Given the description of an element on the screen output the (x, y) to click on. 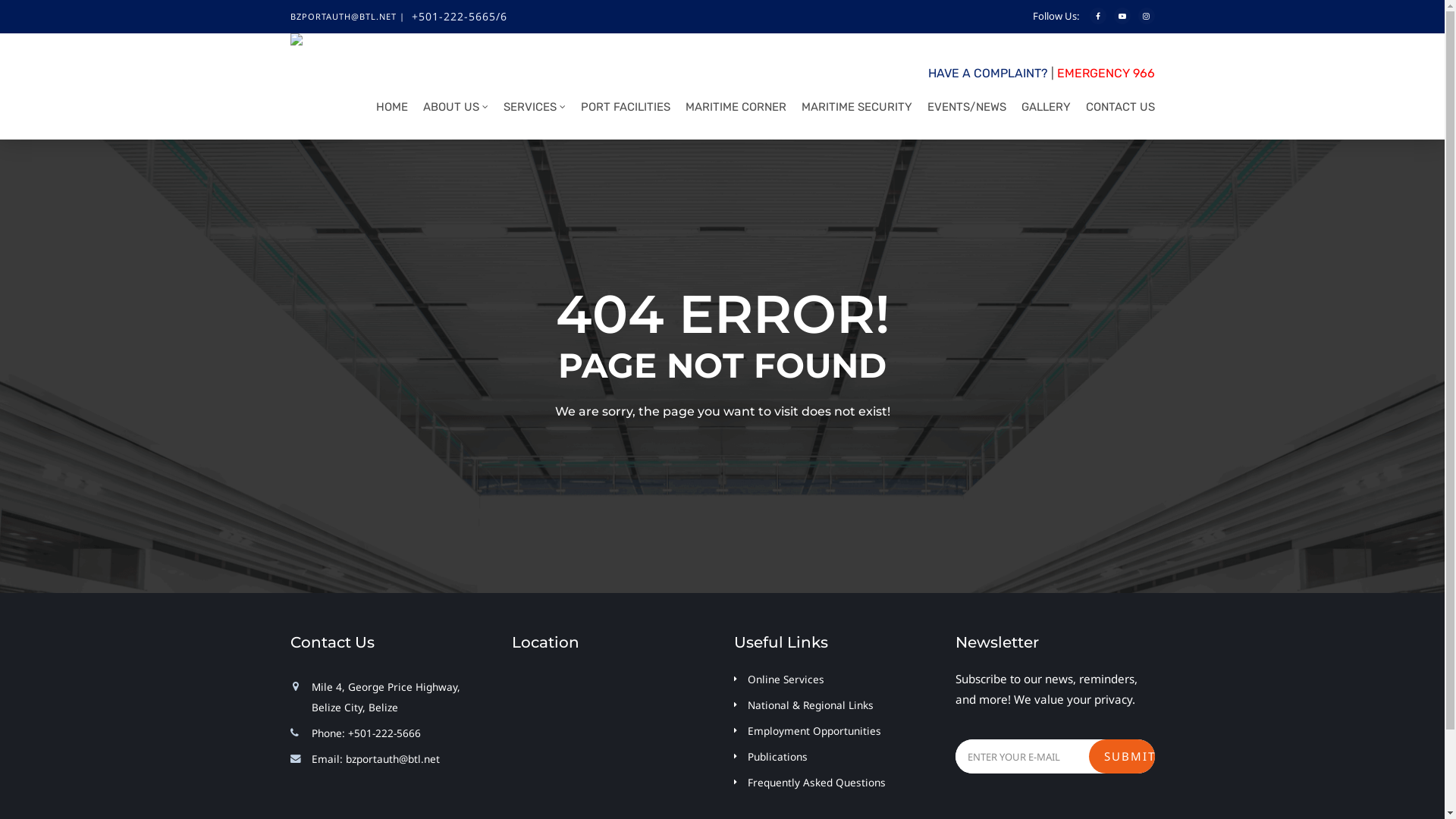
National & Regional Links Element type: text (810, 704)
HOME Element type: text (387, 110)
GALLERY Element type: text (1041, 110)
+501-222-5665/6 Element type: text (458, 16)
EVENTS/NEWS Element type: text (962, 110)
SERVICES Element type: text (529, 110)
HAVE A COMPLAINT? Element type: text (988, 72)
MARITIME CORNER Element type: text (730, 110)
ABOUT US Element type: text (450, 110)
Publications Element type: text (777, 756)
Online Services Element type: text (785, 678)
Frequently Asked Questions Element type: text (816, 782)
SUBMIT Element type: text (1121, 756)
Employment Opportunities Element type: text (814, 730)
CONTACT US Element type: text (1115, 110)
PORT FACILITIES Element type: text (620, 110)
MARITIME SECURITY Element type: text (852, 110)
